Given the description of an element on the screen output the (x, y) to click on. 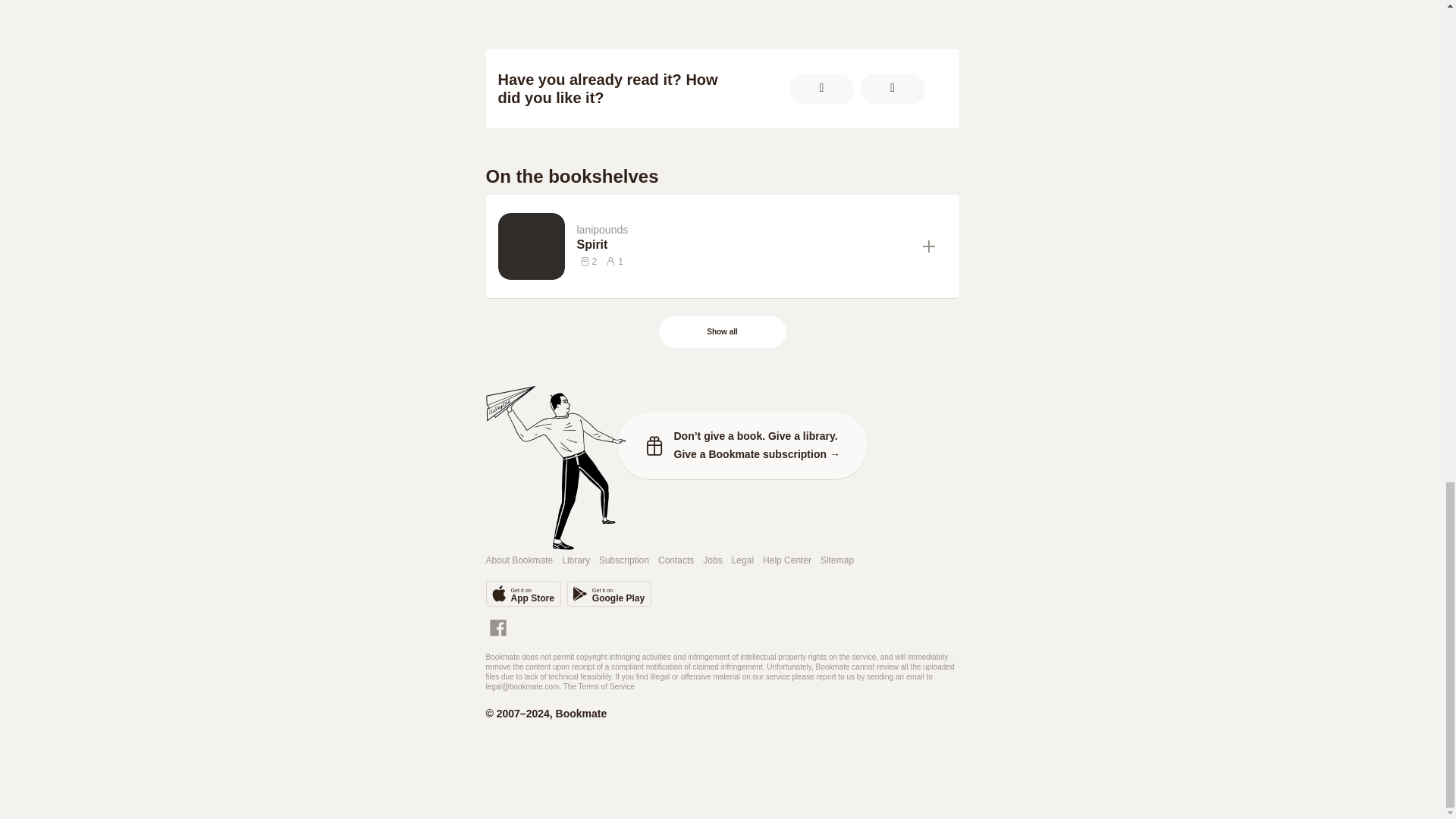
Show all (722, 332)
Spirit (743, 244)
Library (575, 560)
Show all (743, 244)
About Bookmate (722, 331)
